Given the description of an element on the screen output the (x, y) to click on. 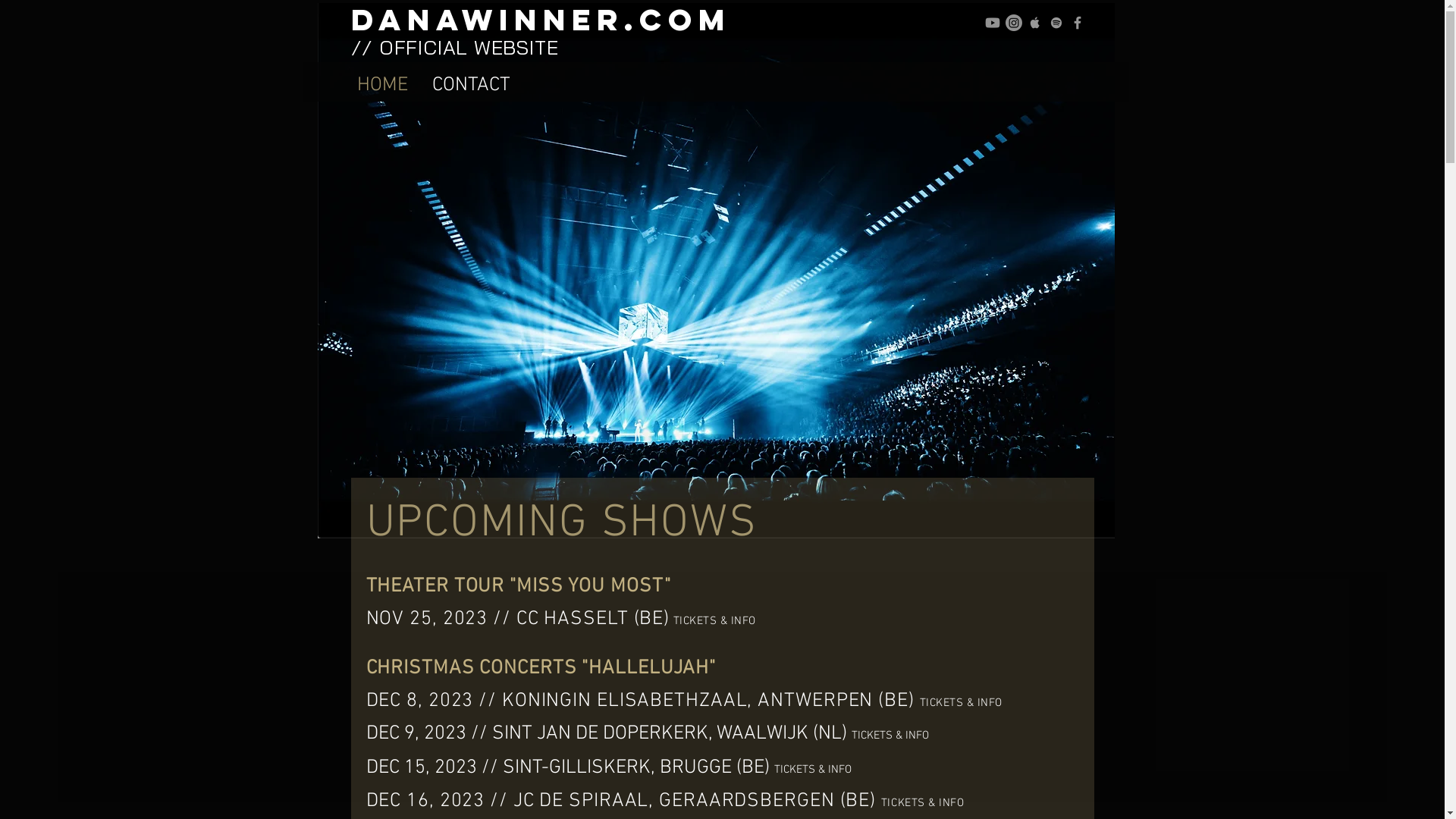
TICKETS & INFO Element type: text (922, 802)
TICKETS & INFO Element type: text (811, 767)
TI Element type: text (924, 702)
S Element type: text (961, 702)
& INFO Element type: text (984, 702)
TICKETS & INFO Element type: text (889, 733)
T Element type: text (952, 702)
KE Element type: text (942, 702)
CONTACT Element type: text (471, 81)
C Element type: text (932, 702)
 TICKETS Element type: text (692, 620)
& INFO Element type: text (736, 620)
HOME Element type: text (381, 81)
